Given the description of an element on the screen output the (x, y) to click on. 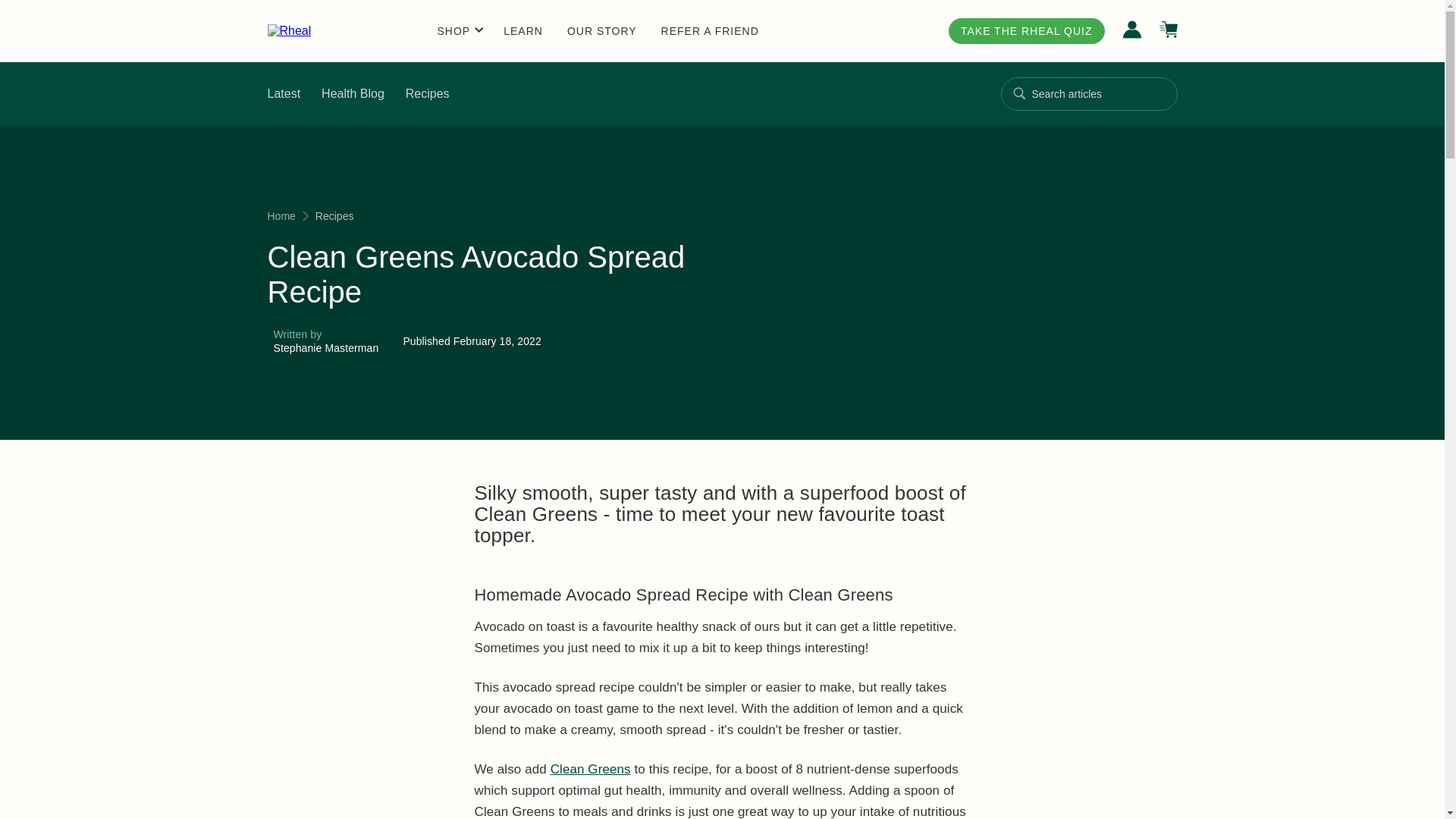
Clean Greens superfood blend (590, 769)
TAKE THE RHEAL QUIZ (1027, 31)
Recipes (620, 93)
REFER A FRIEND (427, 93)
LEARN (620, 93)
Latest (709, 30)
OUR STORY (523, 30)
Health Blog (282, 93)
